Given the description of an element on the screen output the (x, y) to click on. 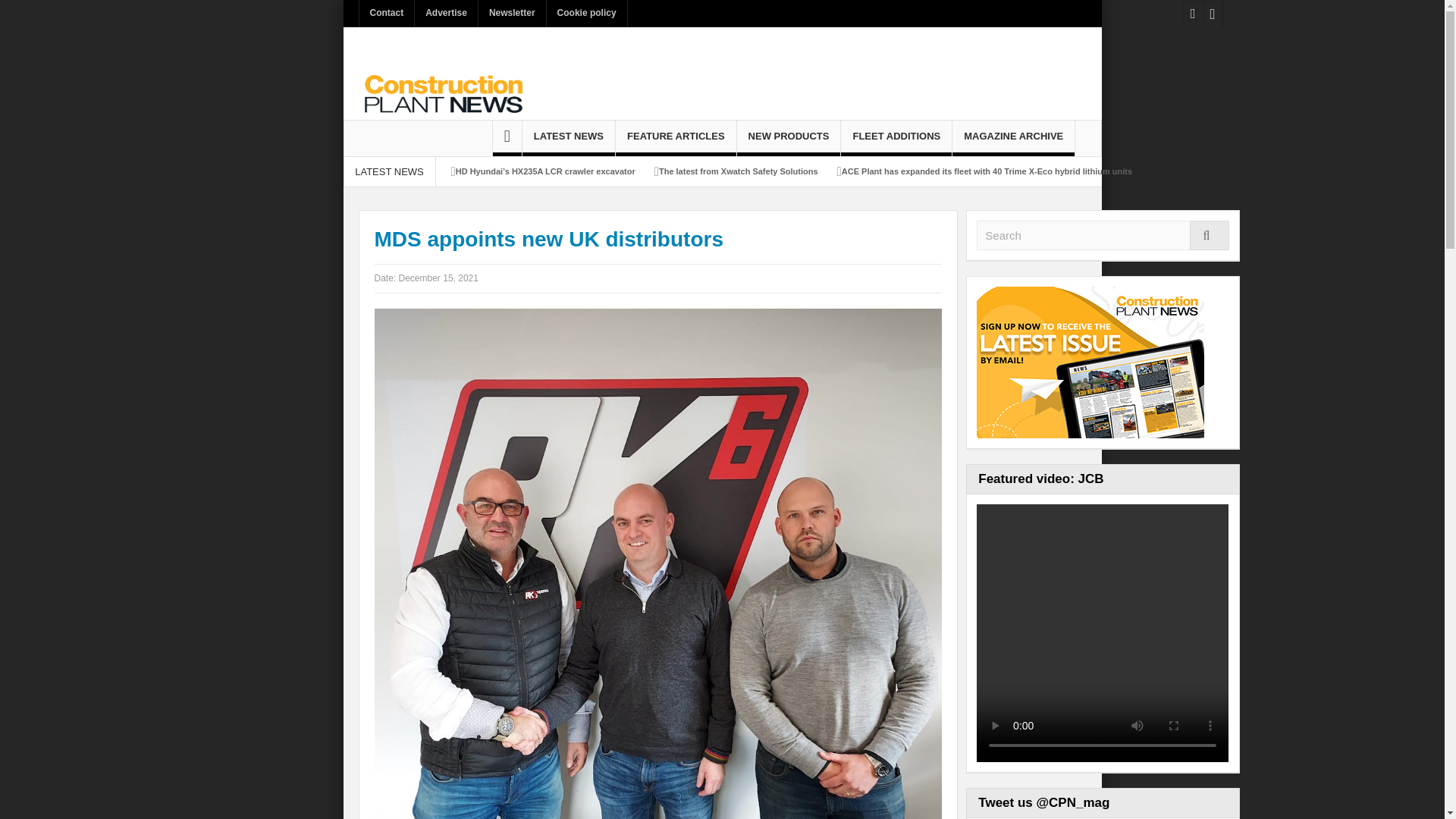
Cookie policy (587, 13)
LATEST NEWS (568, 138)
Search (1102, 235)
Newsletter (512, 13)
NEW PRODUCTS (788, 138)
Search (1102, 235)
FEATURE ARTICLES (675, 138)
FLEET ADDITIONS (896, 138)
Advertise (445, 13)
MAGAZINE ARCHIVE (1013, 138)
Search for: (1102, 235)
The latest from Xwatch Safety Solutions (738, 171)
Contact (386, 13)
Construction Plant News (441, 92)
